Given the description of an element on the screen output the (x, y) to click on. 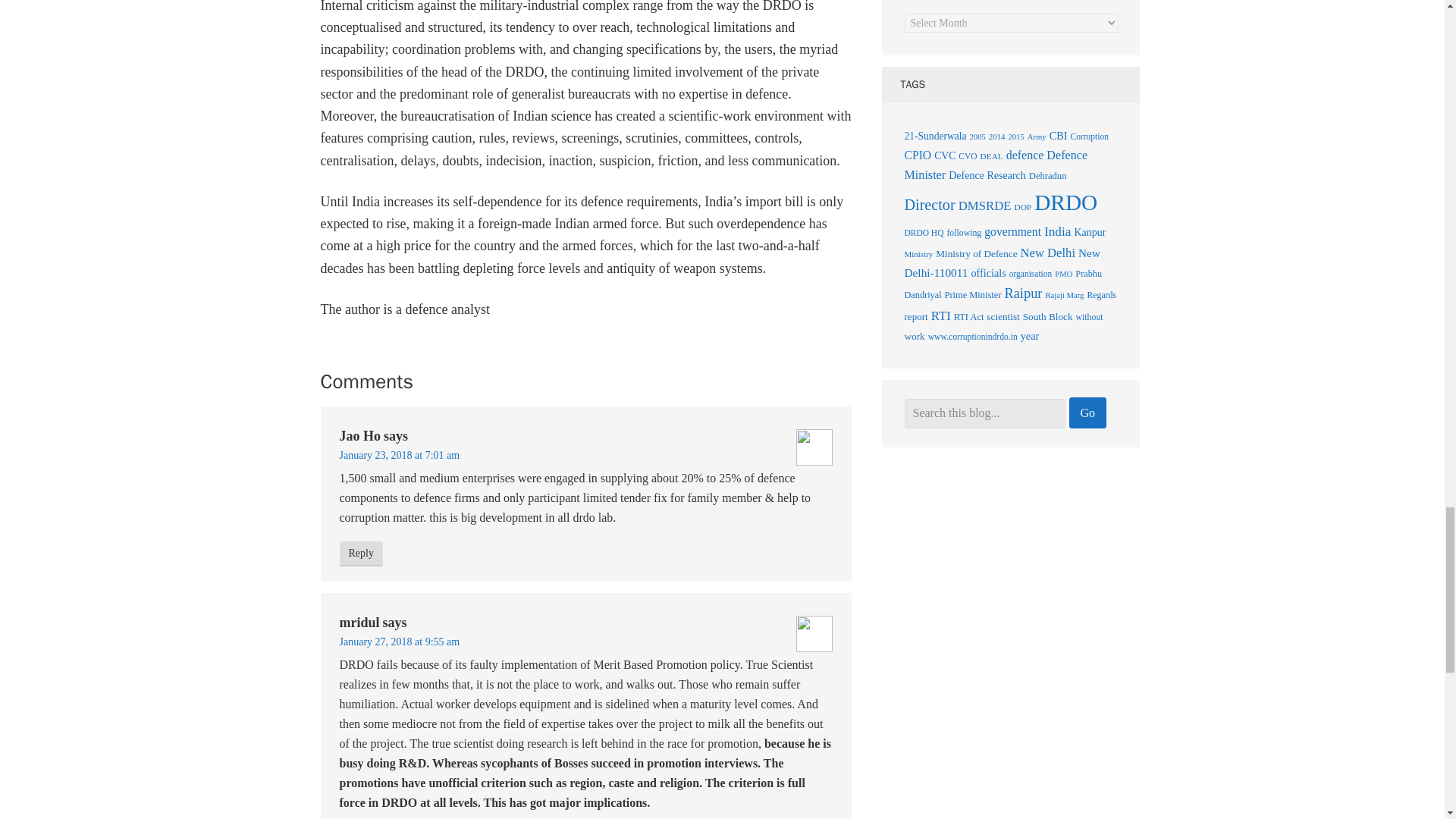
January 27, 2018 at 9:55 am (399, 641)
Go (1087, 412)
Reply (360, 553)
January 23, 2018 at 7:01 am (399, 455)
Go (1087, 412)
